Given the description of an element on the screen output the (x, y) to click on. 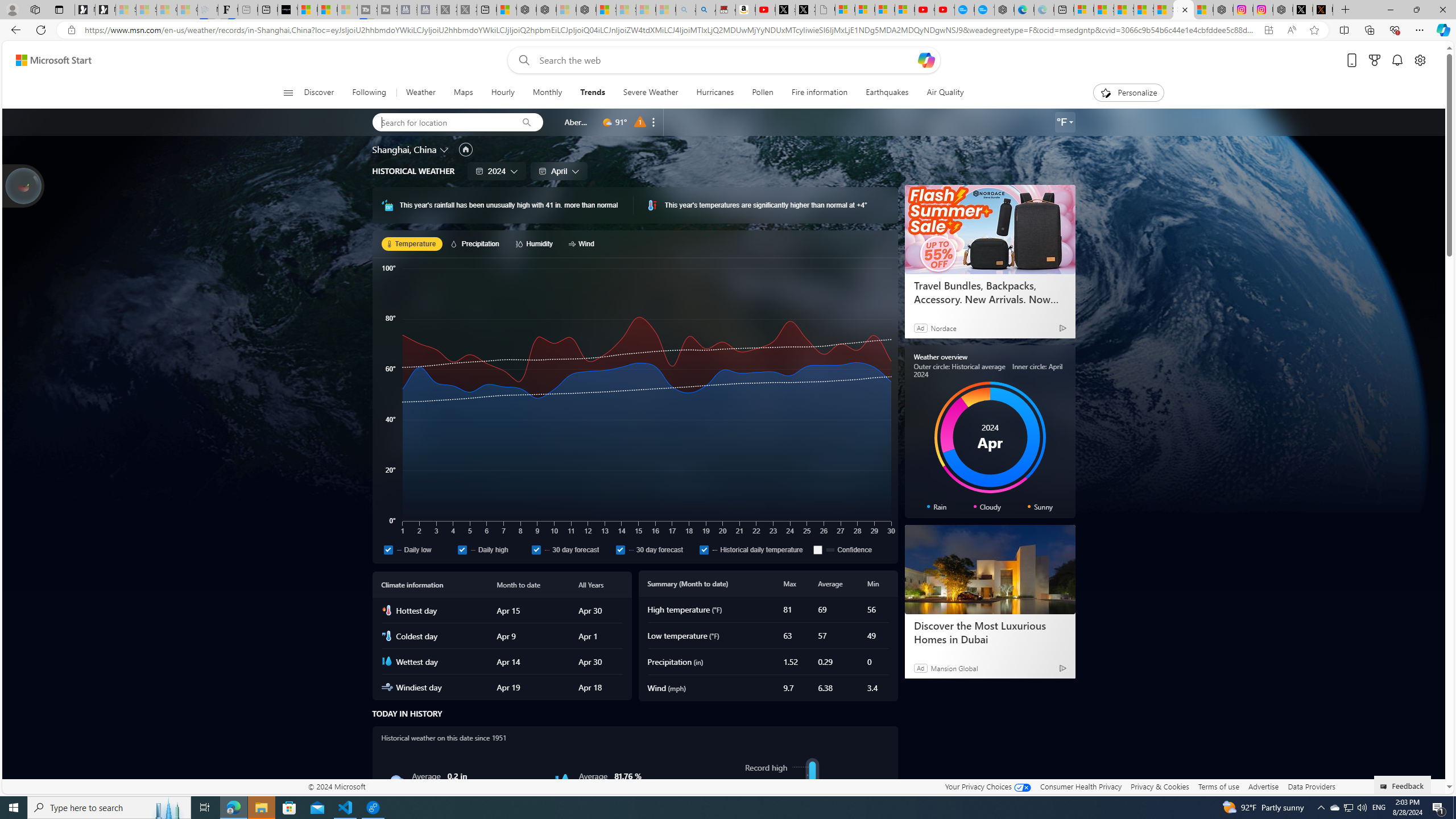
To get missing image descriptions, open the context menu. (1105, 92)
Temperature (411, 243)
Data Providers (1311, 786)
Set as primary location (465, 149)
YouTube Kids - An App Created for Kids to Explore Content (944, 9)
Remove location (653, 122)
Search for location (440, 122)
Daily high (492, 549)
